Given the description of an element on the screen output the (x, y) to click on. 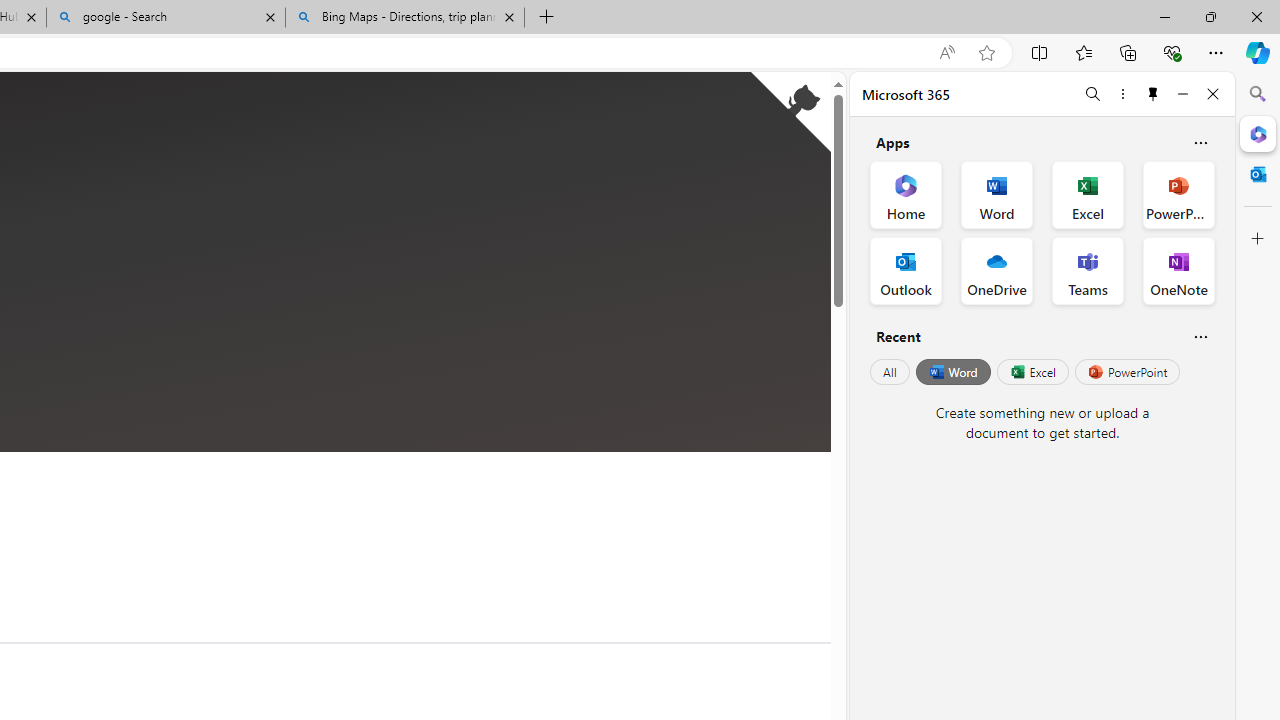
PowerPoint (1127, 372)
Teams Office App (1087, 270)
Is this helpful? (1200, 336)
Home Office App (906, 194)
Excel Office App (1087, 194)
